Given the description of an element on the screen output the (x, y) to click on. 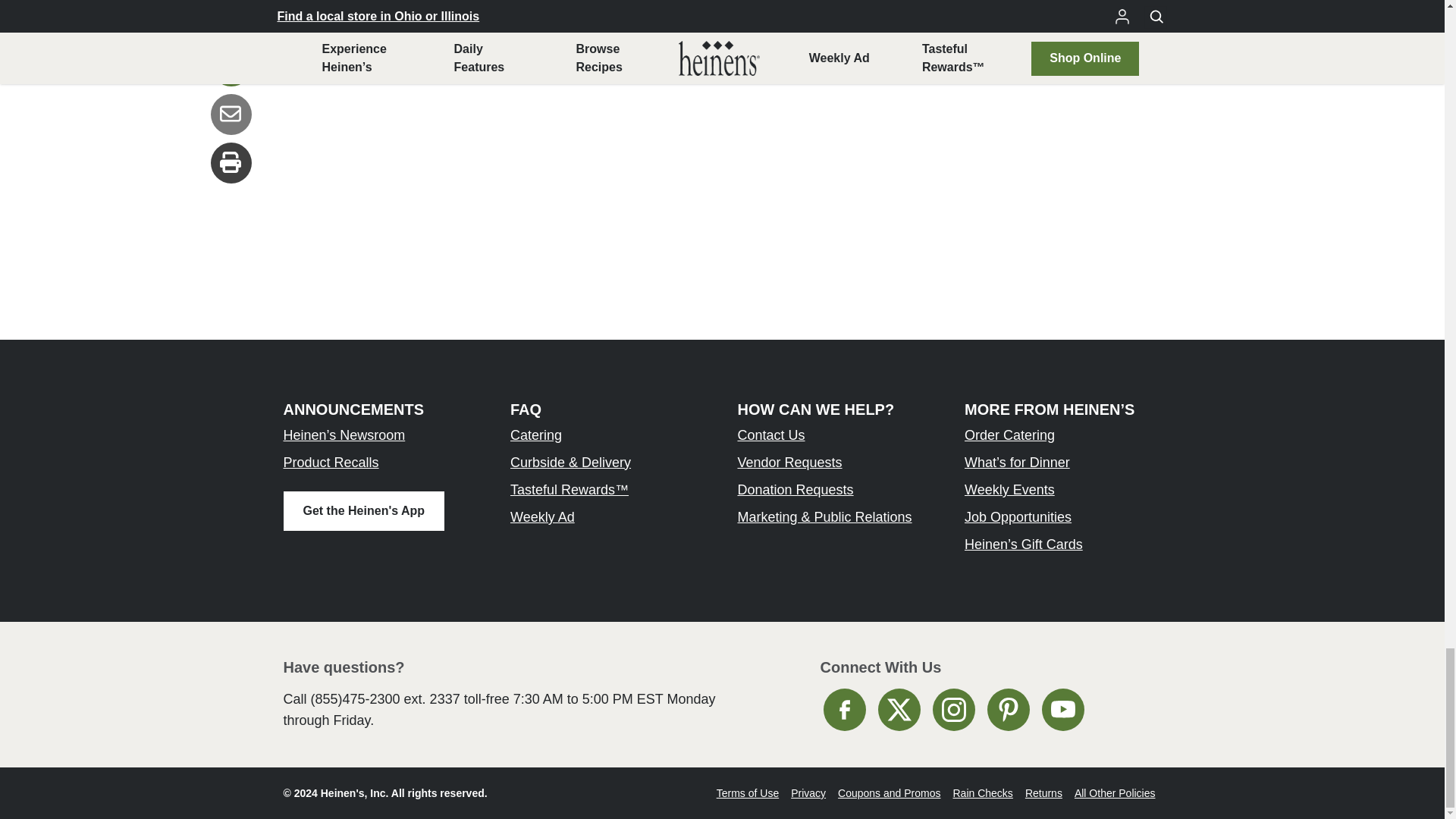
Connect with Heinen's on Instagram (954, 709)
Connect with Heinen's on YouTube (1063, 709)
Connect with Heinen's on X (898, 709)
Connect with Heinen's on Facebook (845, 709)
Connect with Heinen's on Pinterest (1008, 709)
